Given the description of an element on the screen output the (x, y) to click on. 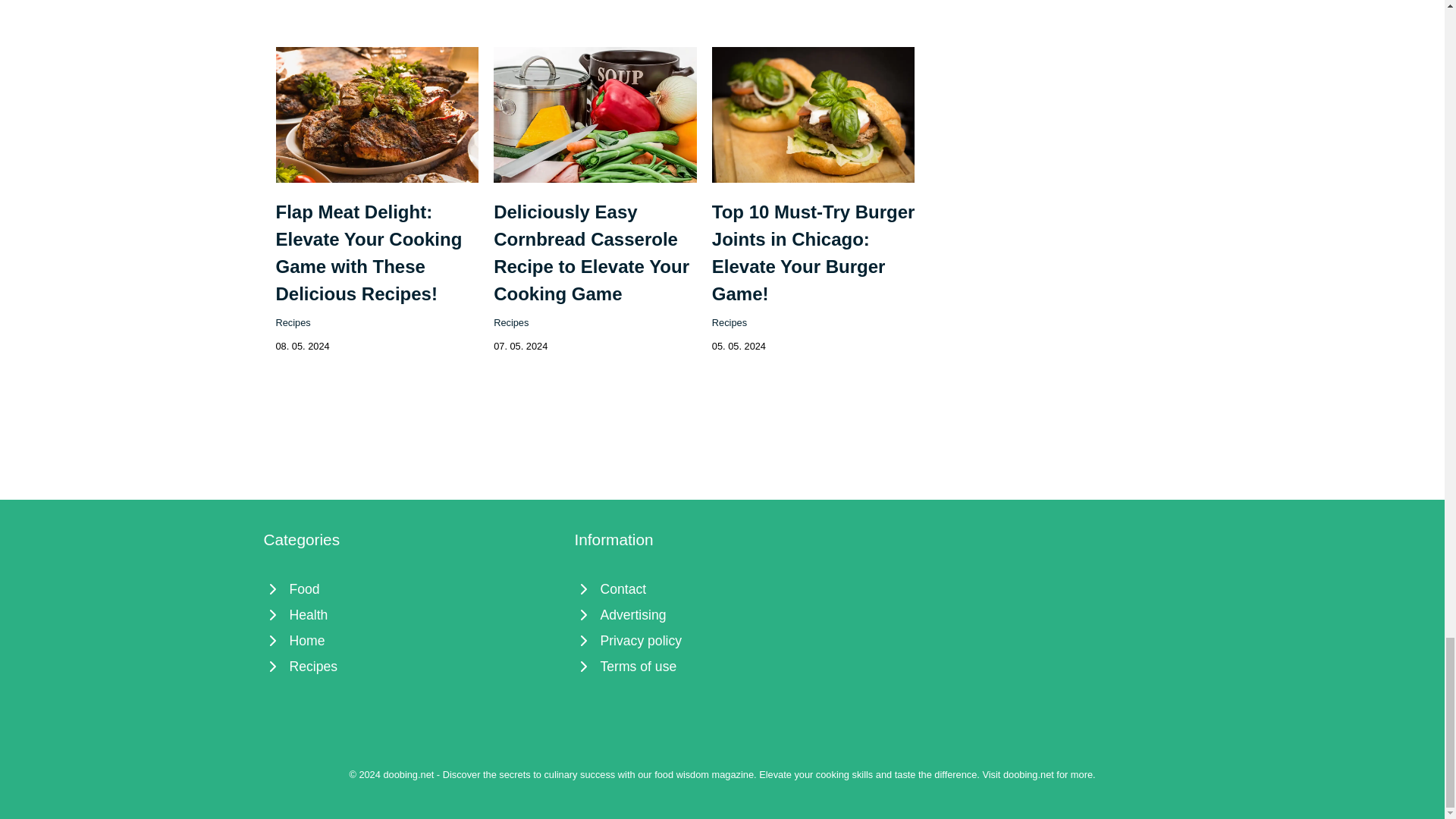
Health (411, 614)
Recipes (293, 322)
Advertising (722, 614)
Food (411, 588)
Recipes (411, 666)
Contact (722, 588)
Recipes (510, 322)
Privacy policy (722, 640)
Terms of use (722, 666)
Recipes (728, 322)
Home (411, 640)
